Given the description of an element on the screen output the (x, y) to click on. 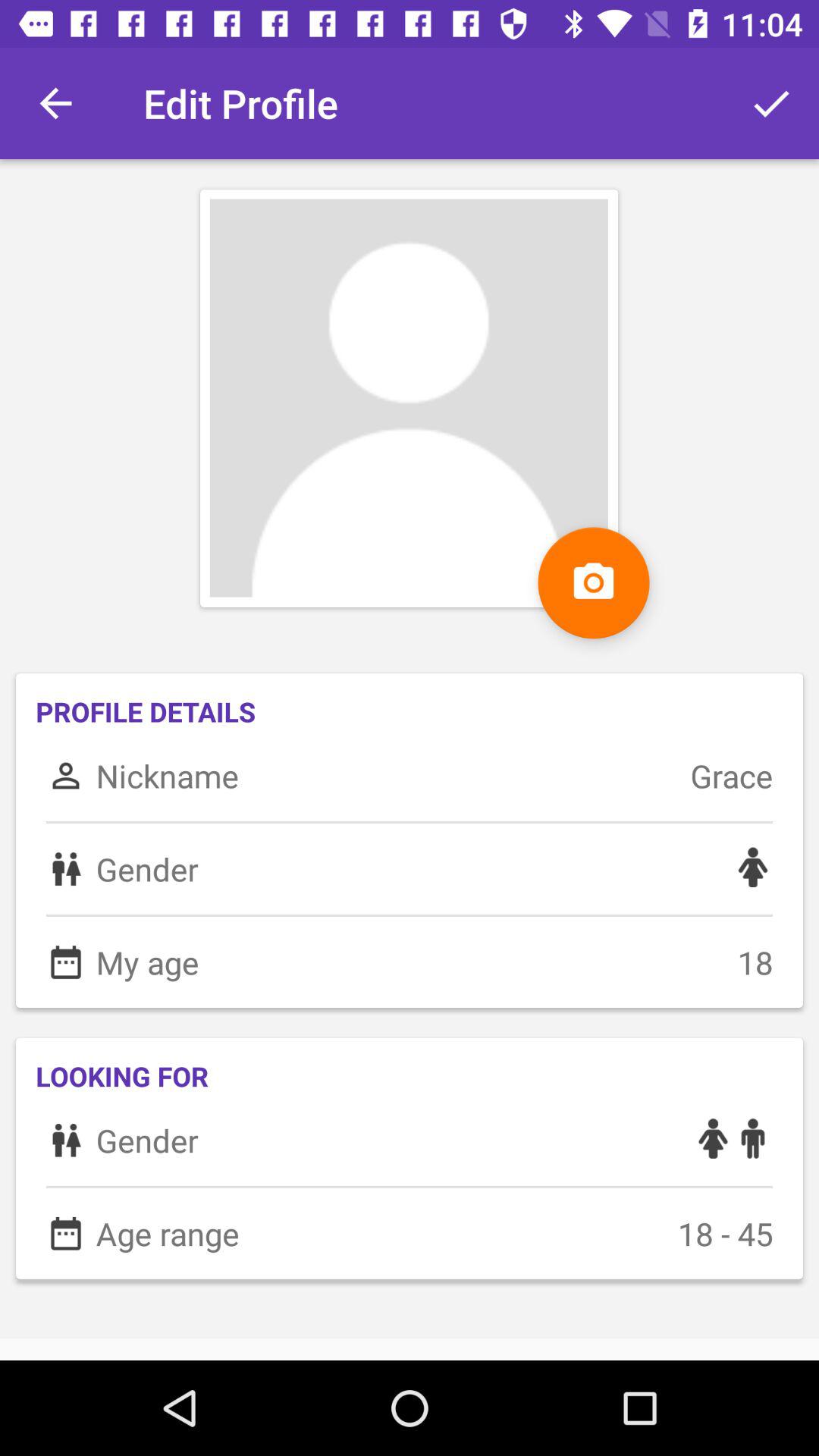
add photo (593, 582)
